Given the description of an element on the screen output the (x, y) to click on. 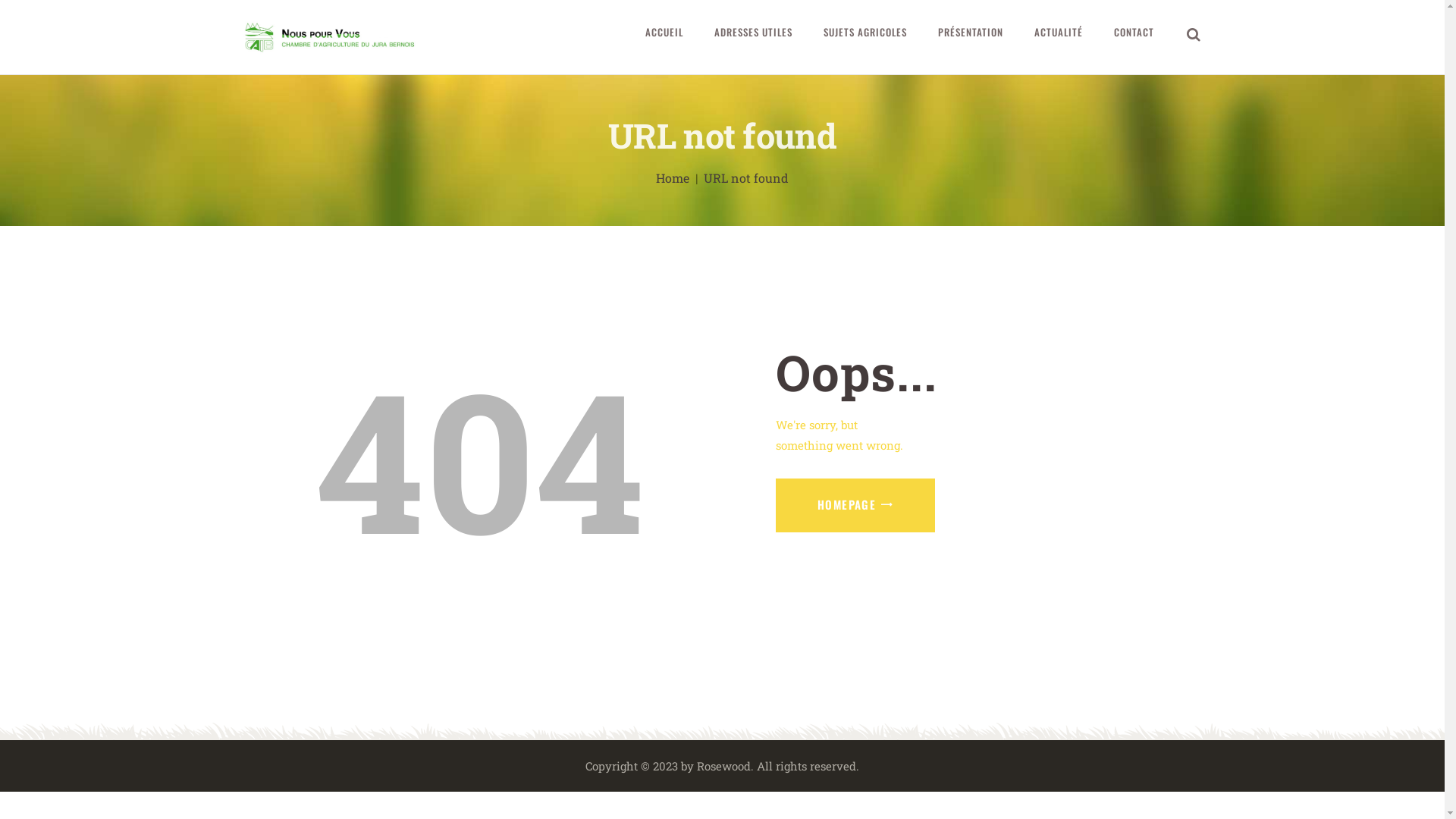
SUJETS AGRICOLES Element type: text (865, 32)
Home Element type: text (672, 178)
ACCUEIL Element type: text (663, 32)
HOMEPAGE Element type: text (855, 505)
CONTACT Element type: text (1134, 32)
ADRESSES UTILES Element type: text (752, 32)
